Given the description of an element on the screen output the (x, y) to click on. 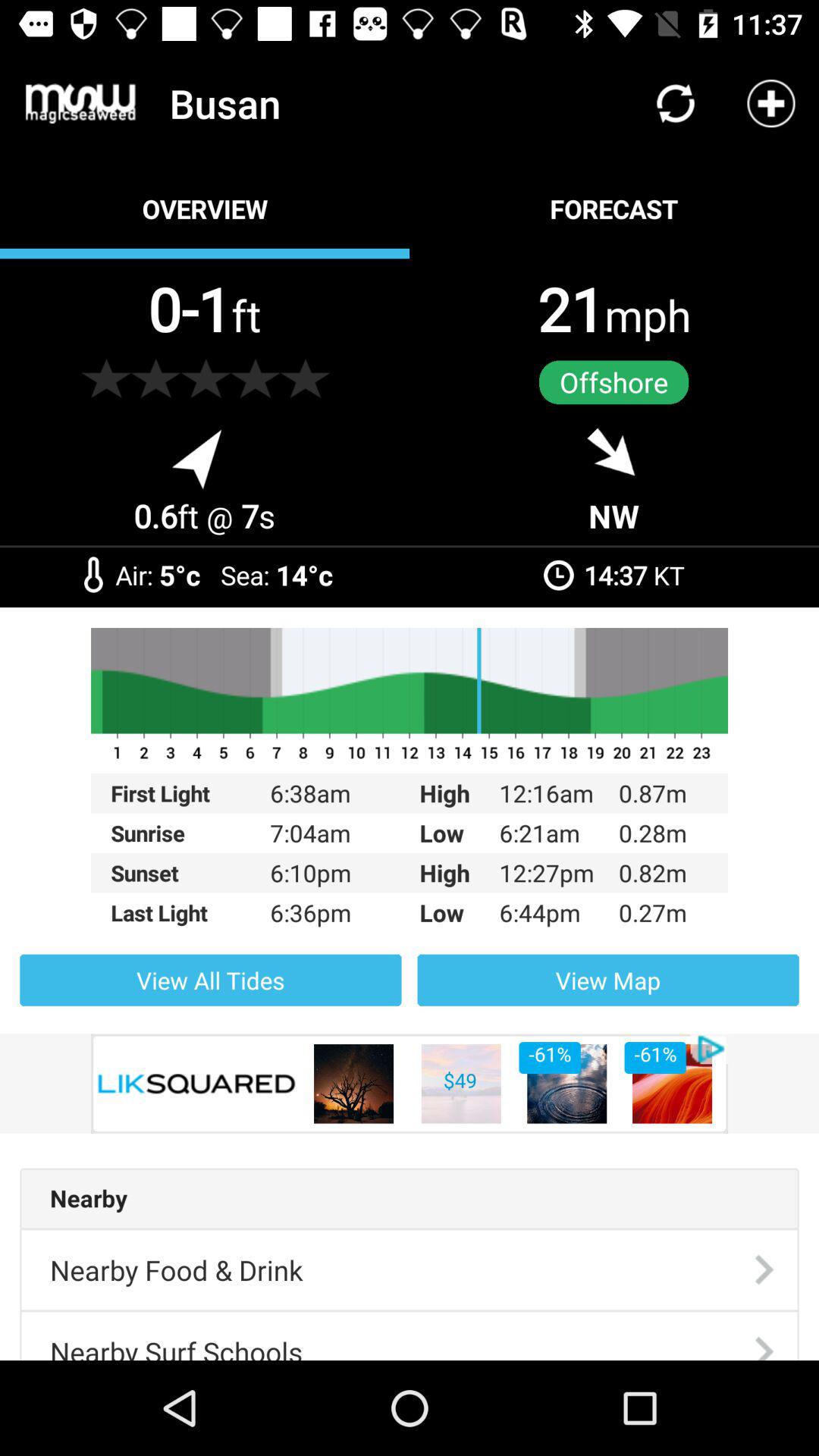
choose the icon below low icon (608, 980)
